Given the description of an element on the screen output the (x, y) to click on. 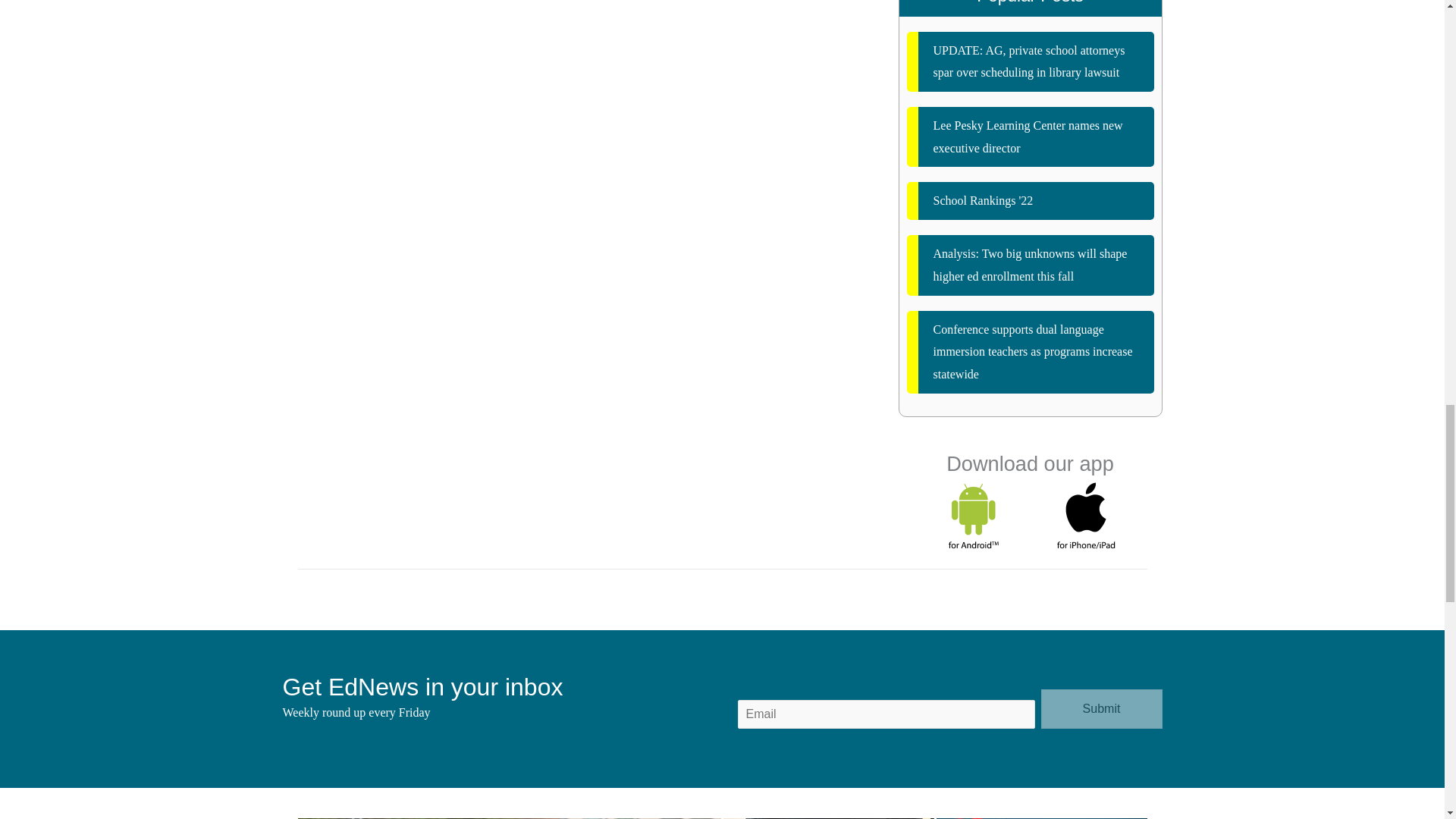
Submit (1101, 708)
Lee Pesky Learning Center names new executive director (1030, 137)
School Rankings '22 (1030, 200)
